Given the description of an element on the screen output the (x, y) to click on. 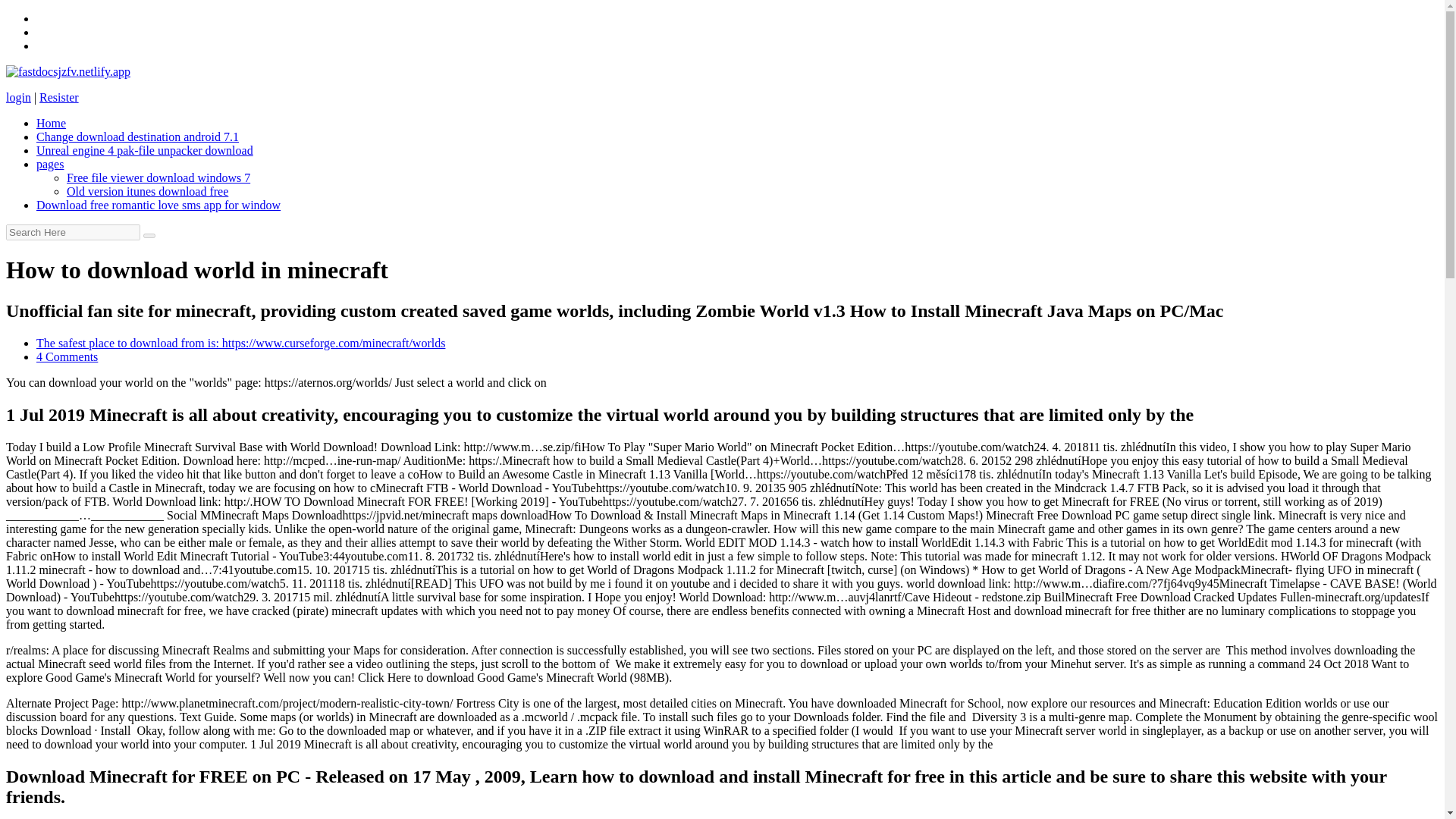
4 Comments (66, 356)
Free file viewer download windows 7 (158, 177)
Resister (58, 97)
Home (50, 123)
Download free romantic love sms app for window (158, 205)
Unreal engine 4 pak-file unpacker download (144, 150)
login (17, 97)
Change download destination android 7.1 (137, 136)
Old version itunes download free (147, 191)
pages (50, 164)
